Given the description of an element on the screen output the (x, y) to click on. 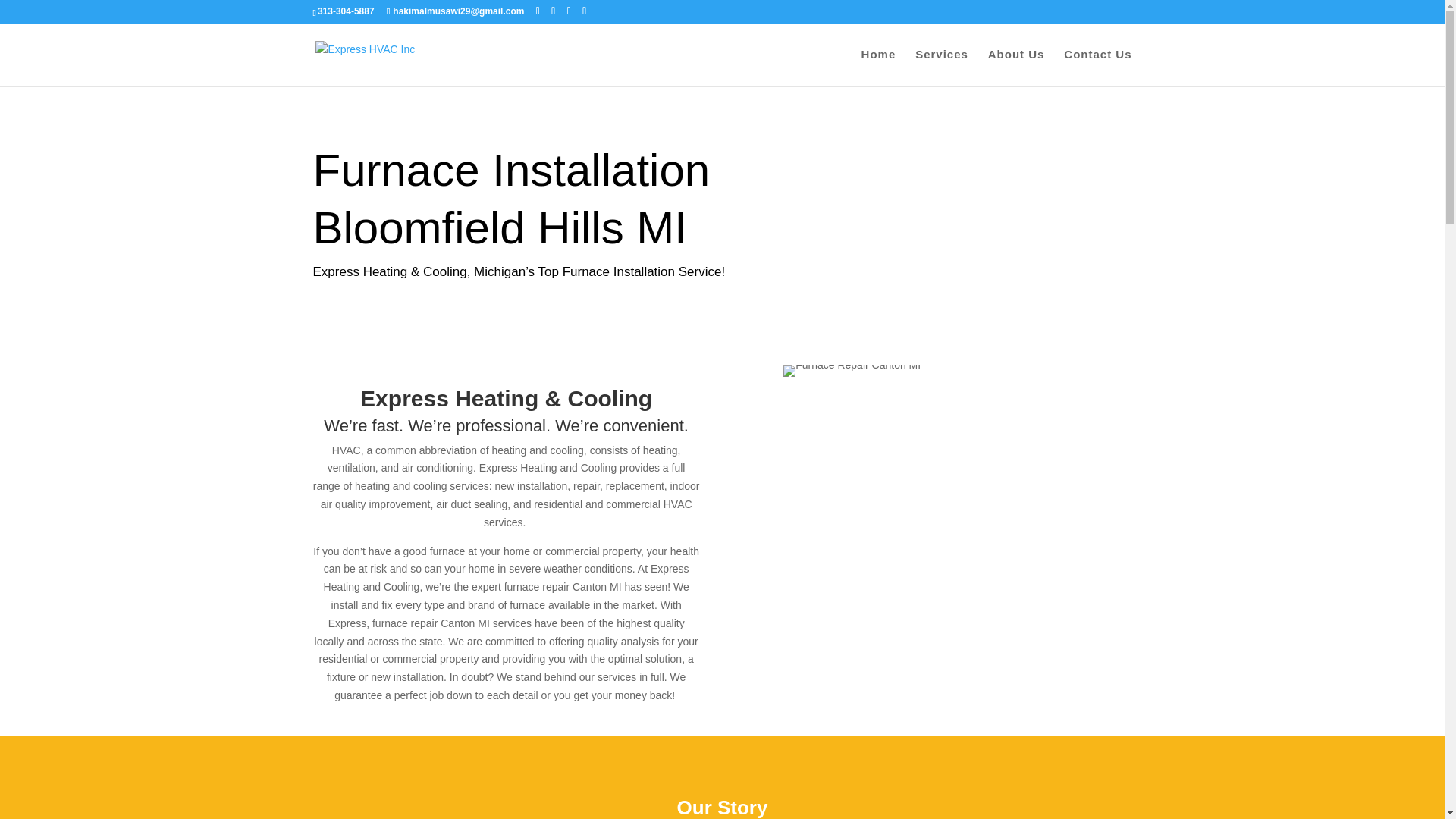
Furnace Repair Canton MI (851, 370)
Home (878, 67)
About Us (1016, 67)
Contact Us (1097, 67)
Services (941, 67)
